Given the description of an element on the screen output the (x, y) to click on. 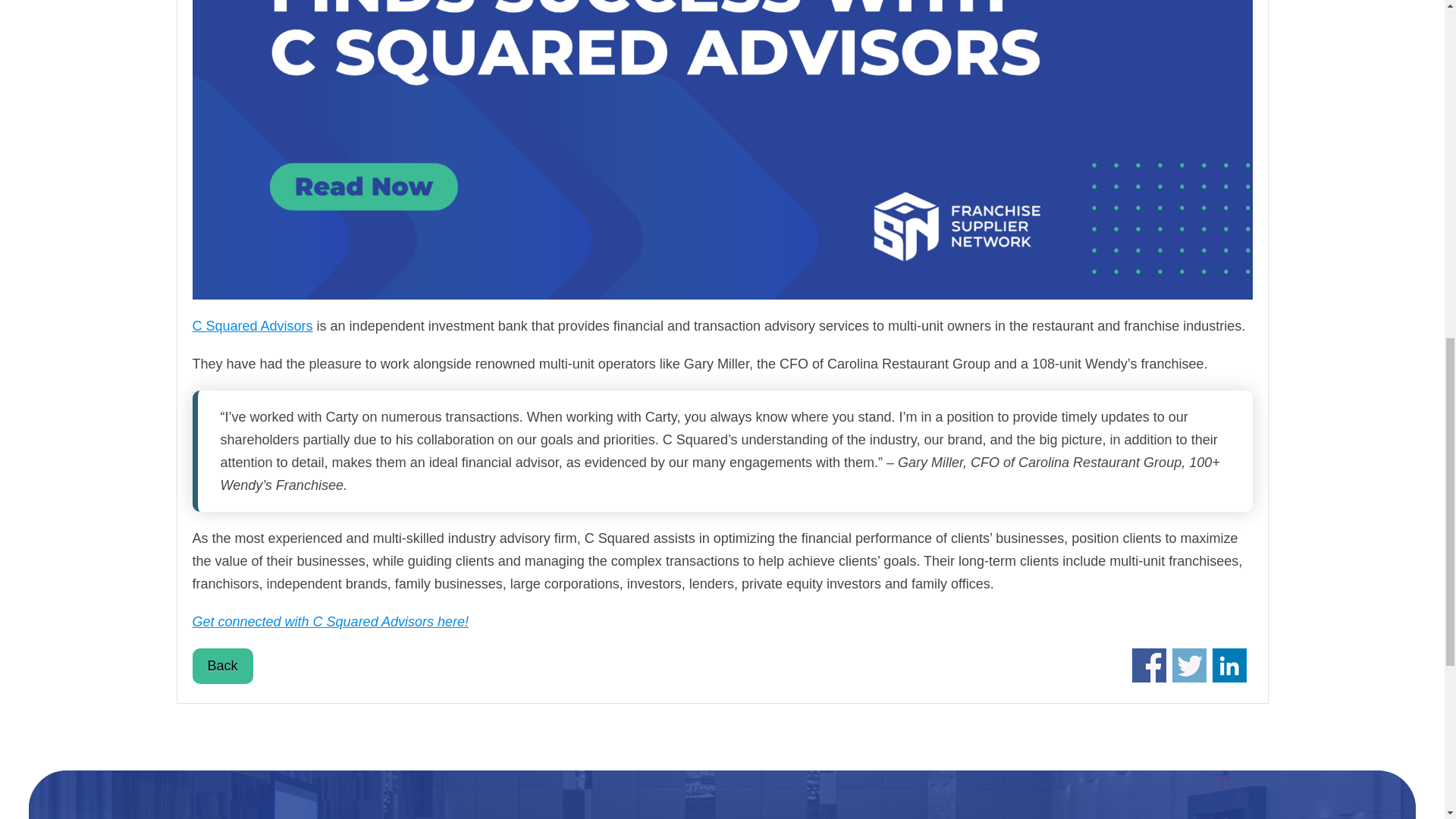
C Squared Advisors (252, 325)
Back (222, 665)
Get connected with C Squared Advisors here! (330, 621)
